Given the description of an element on the screen output the (x, y) to click on. 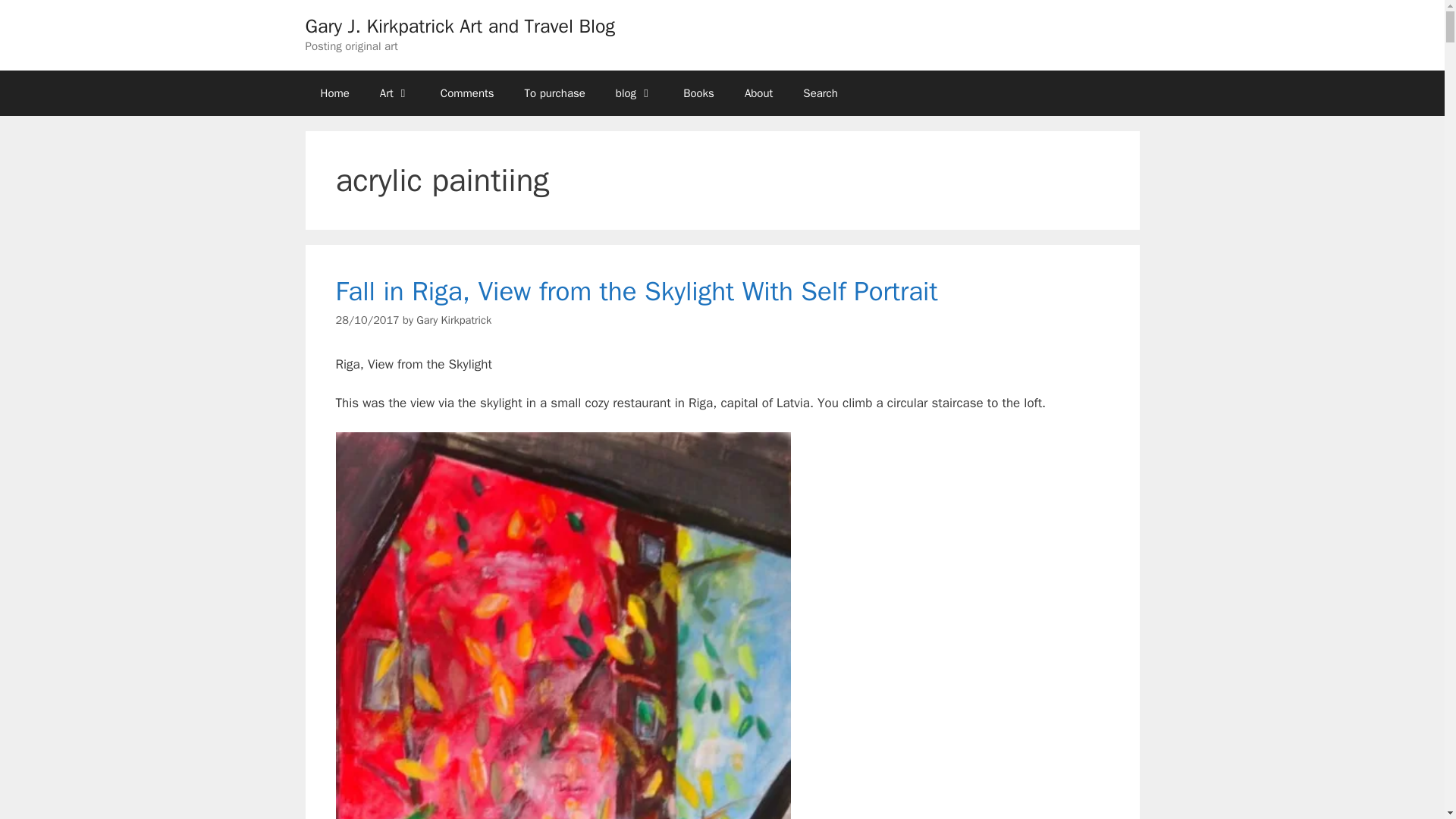
Home (334, 92)
To purchase (554, 92)
View all posts by Gary Kirkpatrick (454, 319)
Comments (467, 92)
blog (633, 92)
Art (395, 92)
Gary J. Kirkpatrick Art and Travel Blog (459, 25)
